Given the description of an element on the screen output the (x, y) to click on. 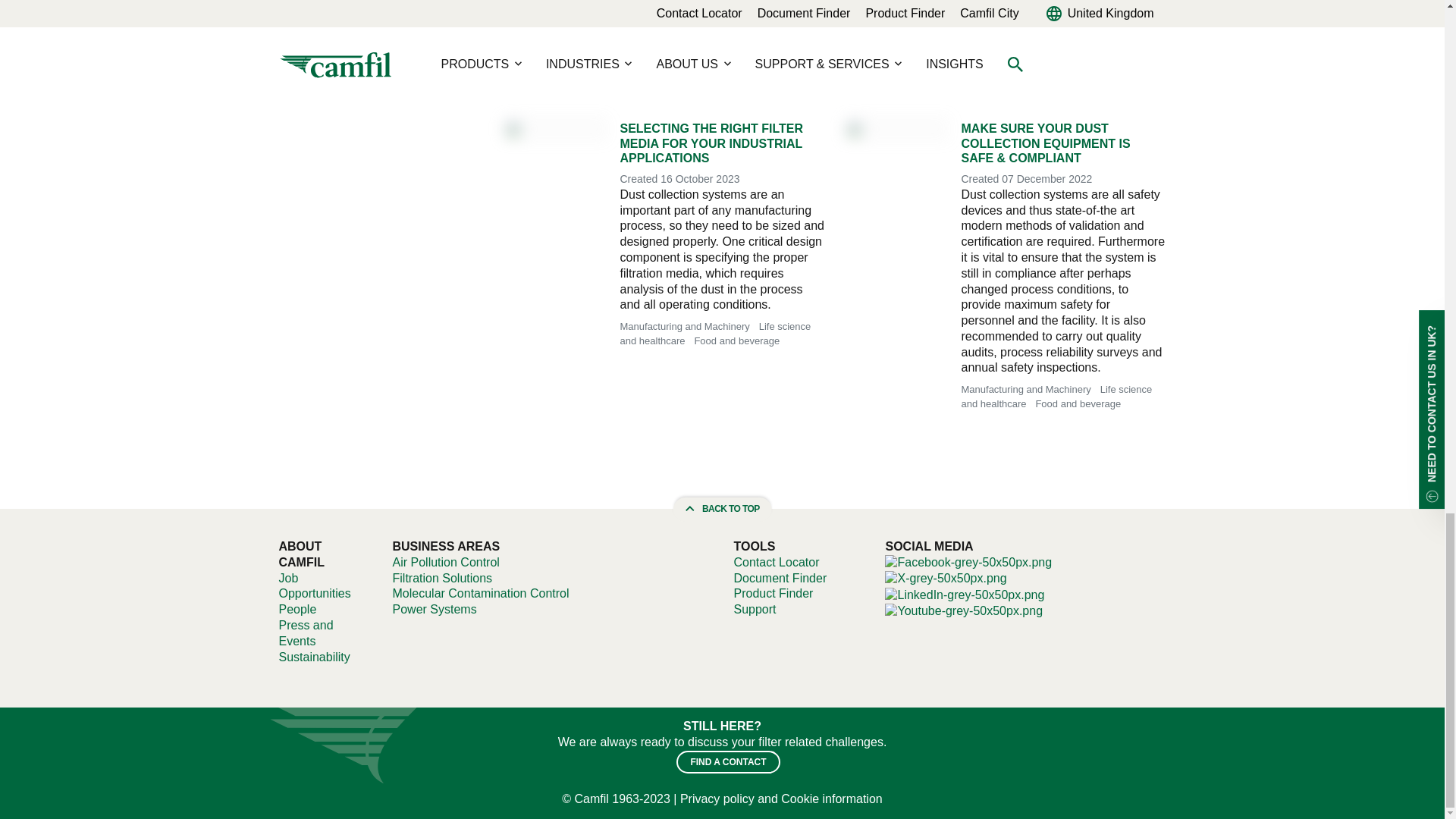
tmp4DAB (968, 562)
Twitter (945, 577)
tmpB33C (945, 578)
Linkedin (964, 594)
tmp6A72 (964, 595)
Facebook (968, 562)
tmpCBDD (963, 611)
YouTube (963, 609)
